Given the description of an element on the screen output the (x, y) to click on. 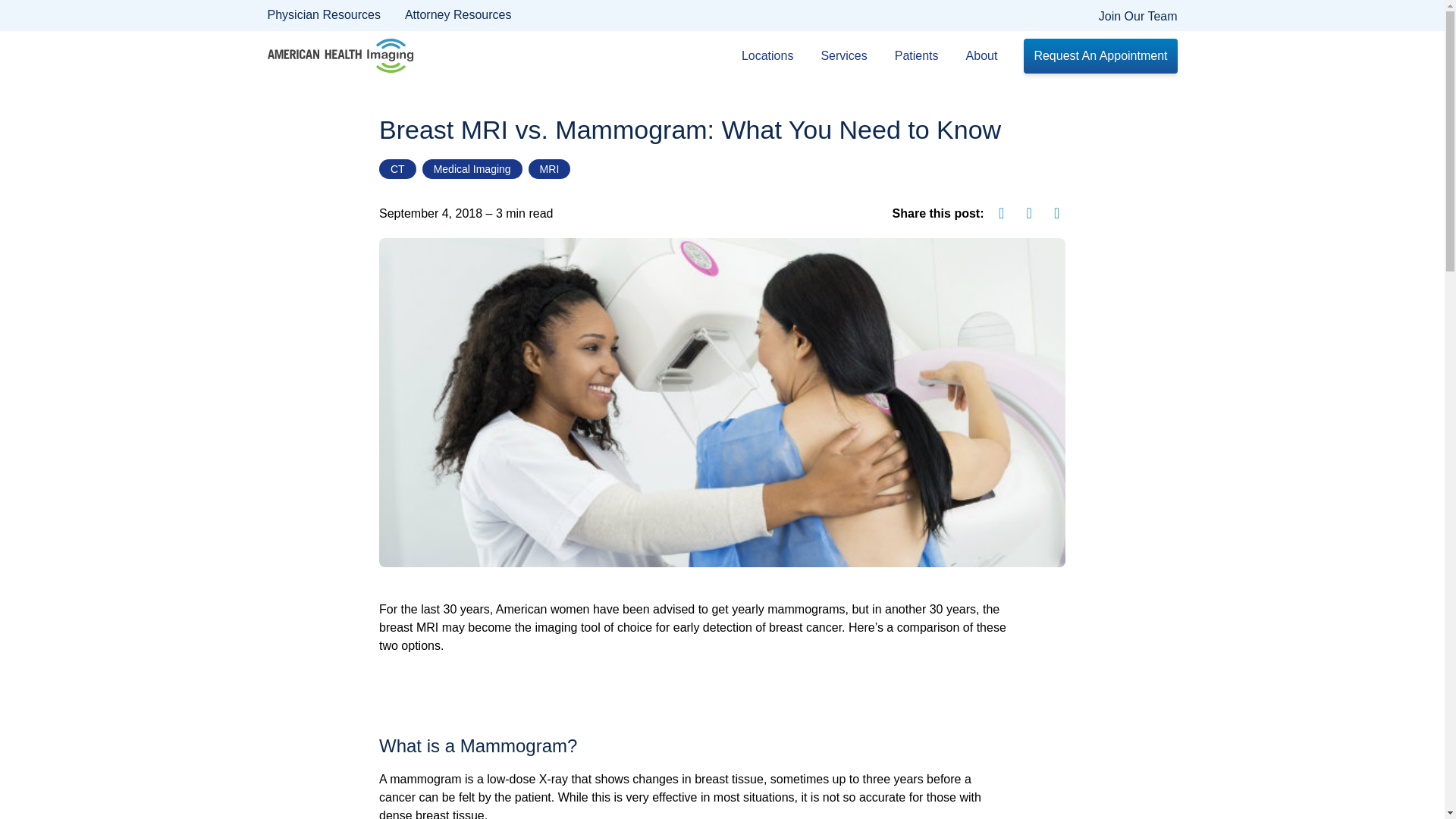
Locations (771, 55)
About (985, 55)
Join Our Team (1138, 17)
Attorney Resources (458, 15)
Physician Resources (323, 15)
Patients (920, 55)
Services (846, 55)
Request An Appointment (1099, 55)
